Given the description of an element on the screen output the (x, y) to click on. 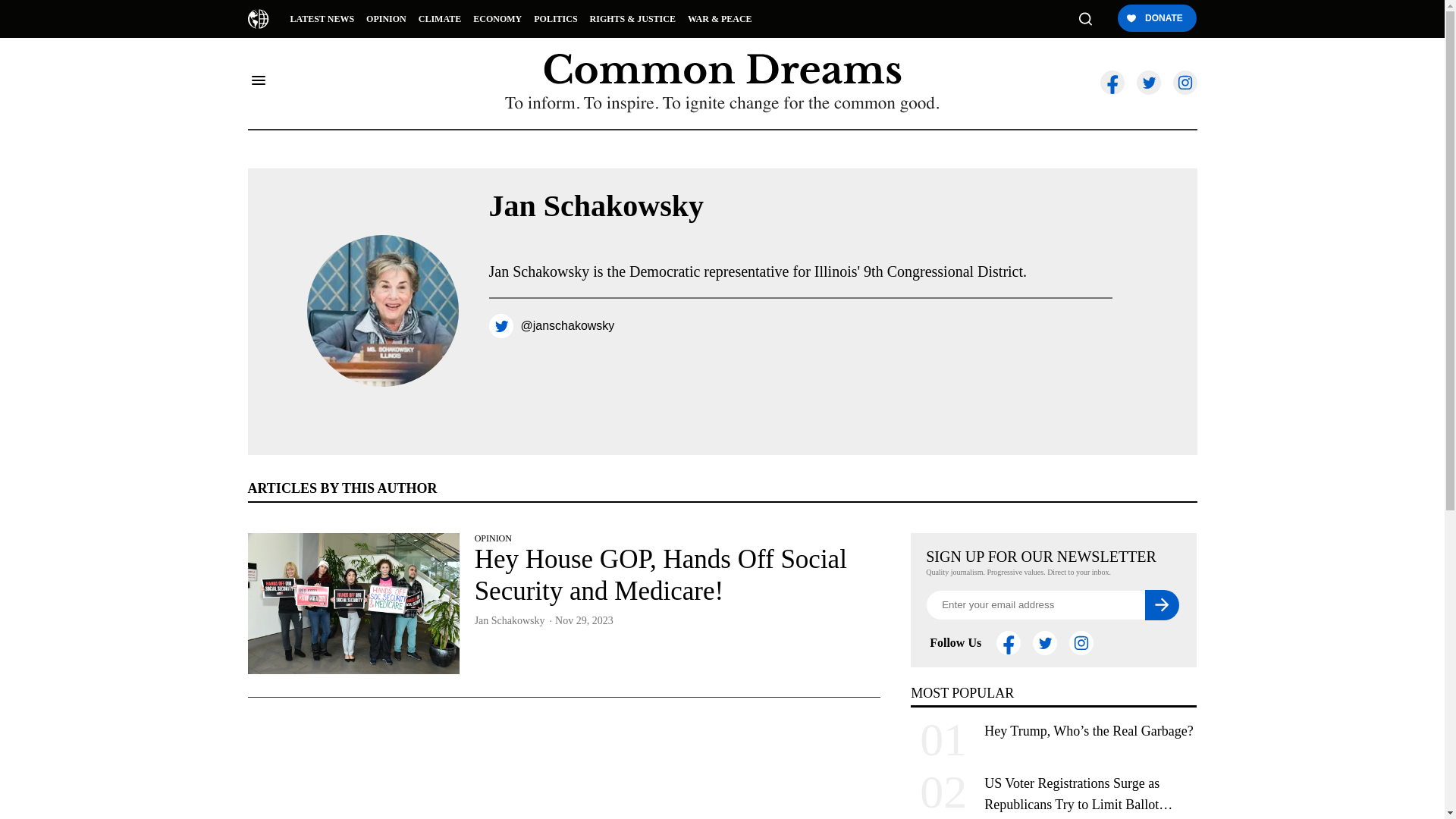
CLIMATE (439, 18)
OPINION (385, 18)
Common Dreams (722, 68)
POLITICS (555, 18)
ECONOMY (497, 18)
Donate Button (1155, 19)
LATEST NEWS (321, 18)
Common Dreams (257, 17)
Avatar for Jan Schakowsky (381, 310)
